Given the description of an element on the screen output the (x, y) to click on. 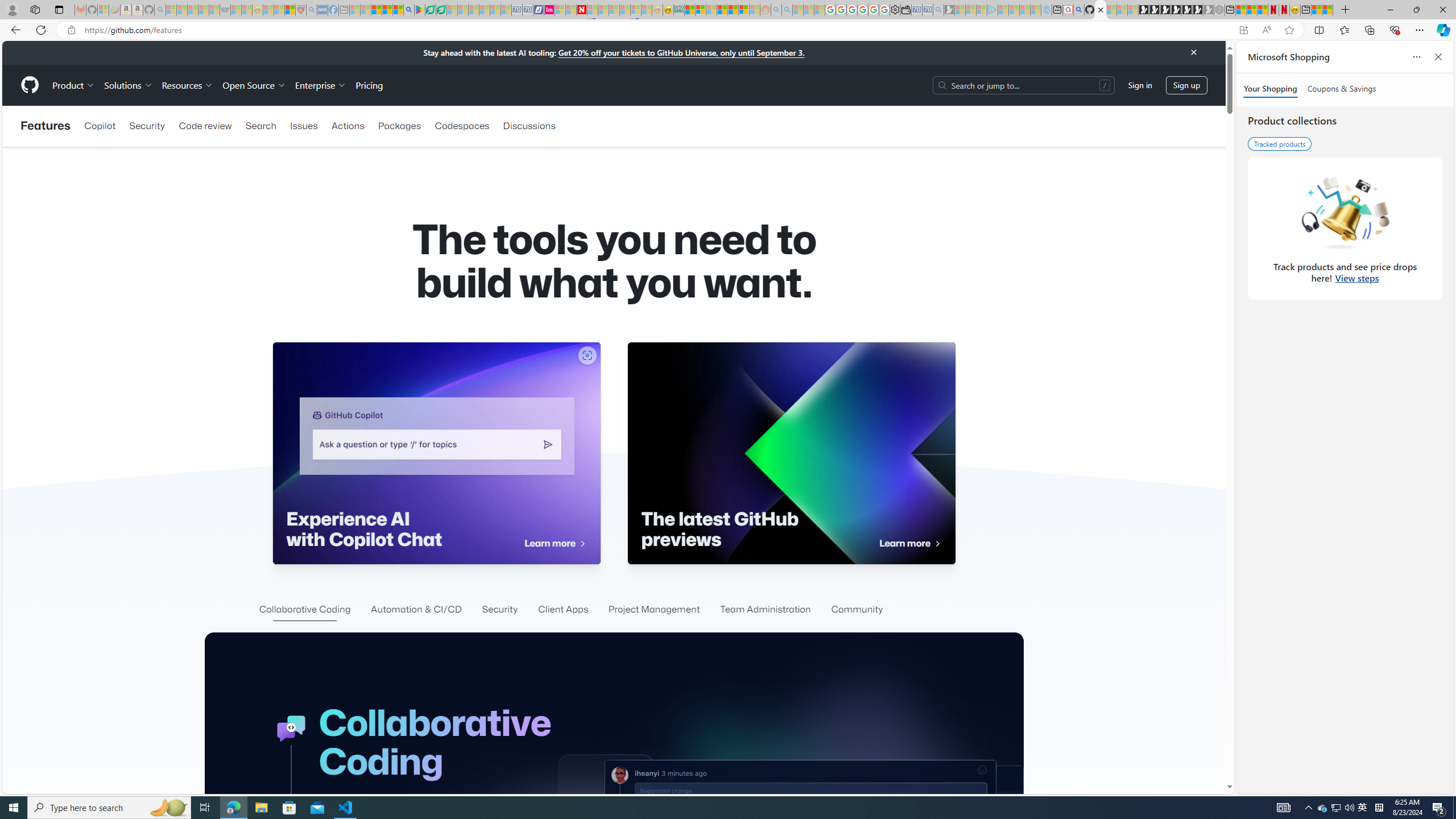
Client Apps (563, 609)
App available. Install GitHub (1243, 29)
